Given the description of an element on the screen output the (x, y) to click on. 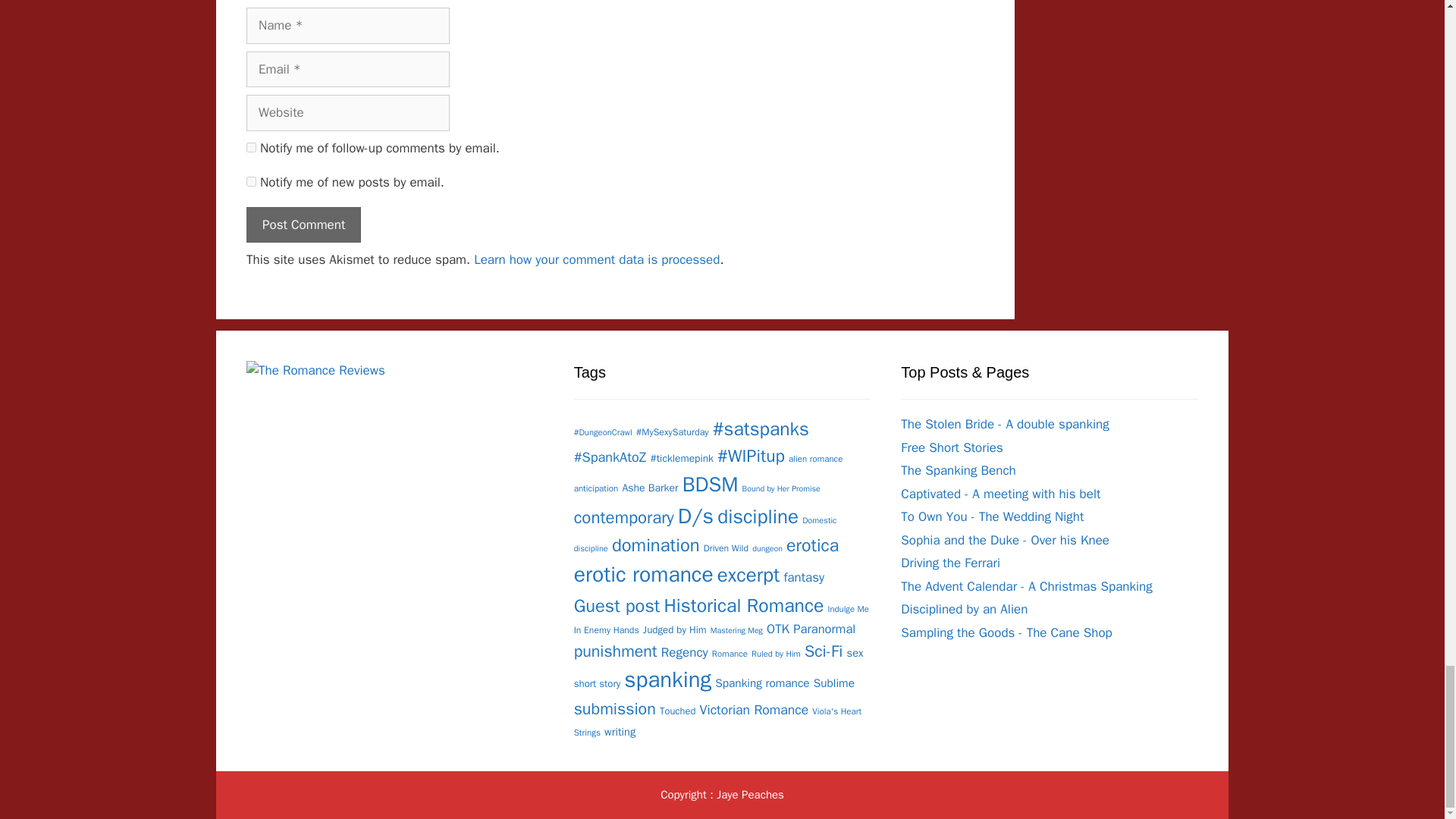
Post Comment (303, 225)
subscribe (251, 181)
subscribe (251, 147)
